Given the description of an element on the screen output the (x, y) to click on. 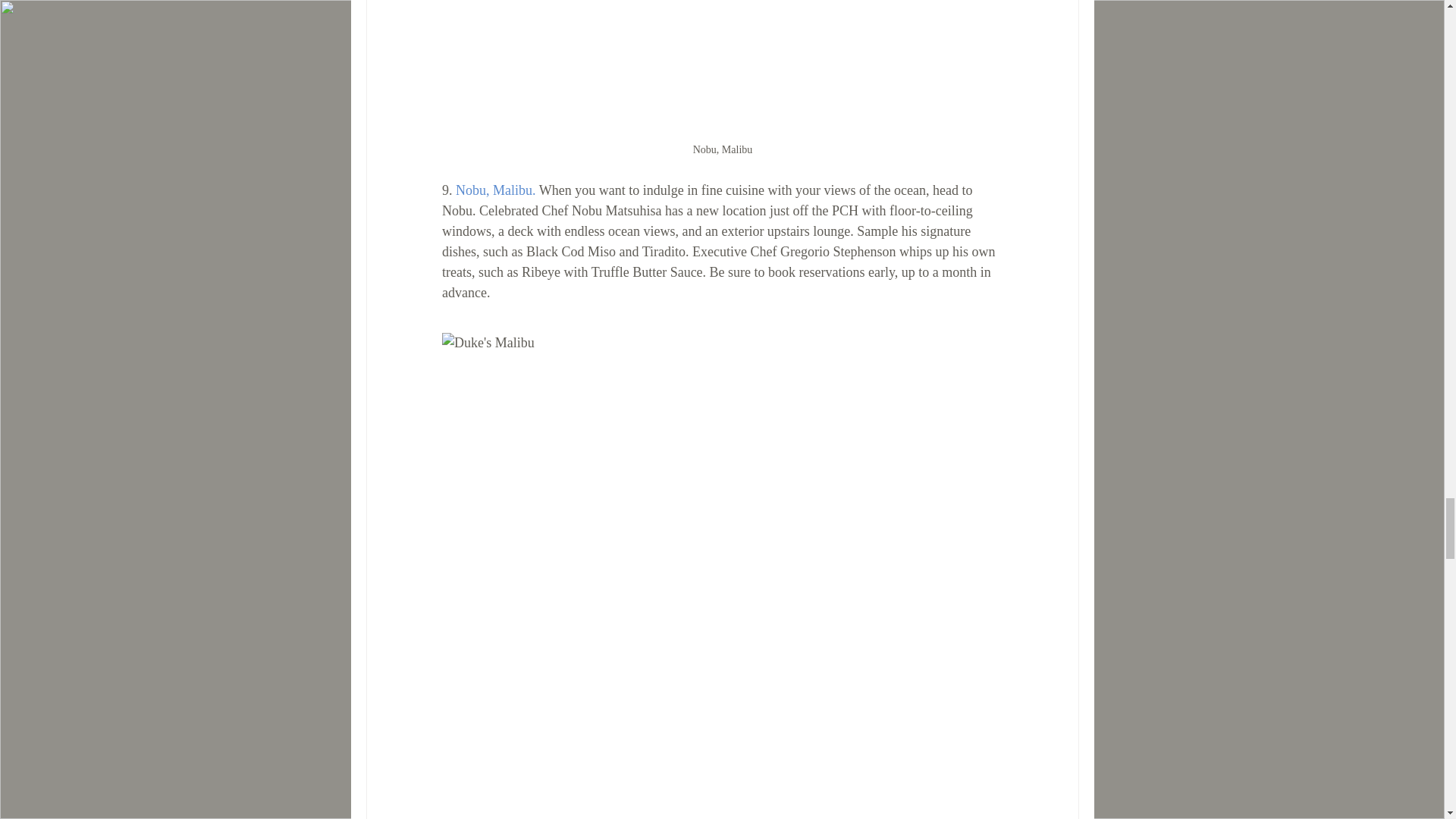
Nobu, Malibu. (494, 190)
